Given the description of an element on the screen output the (x, y) to click on. 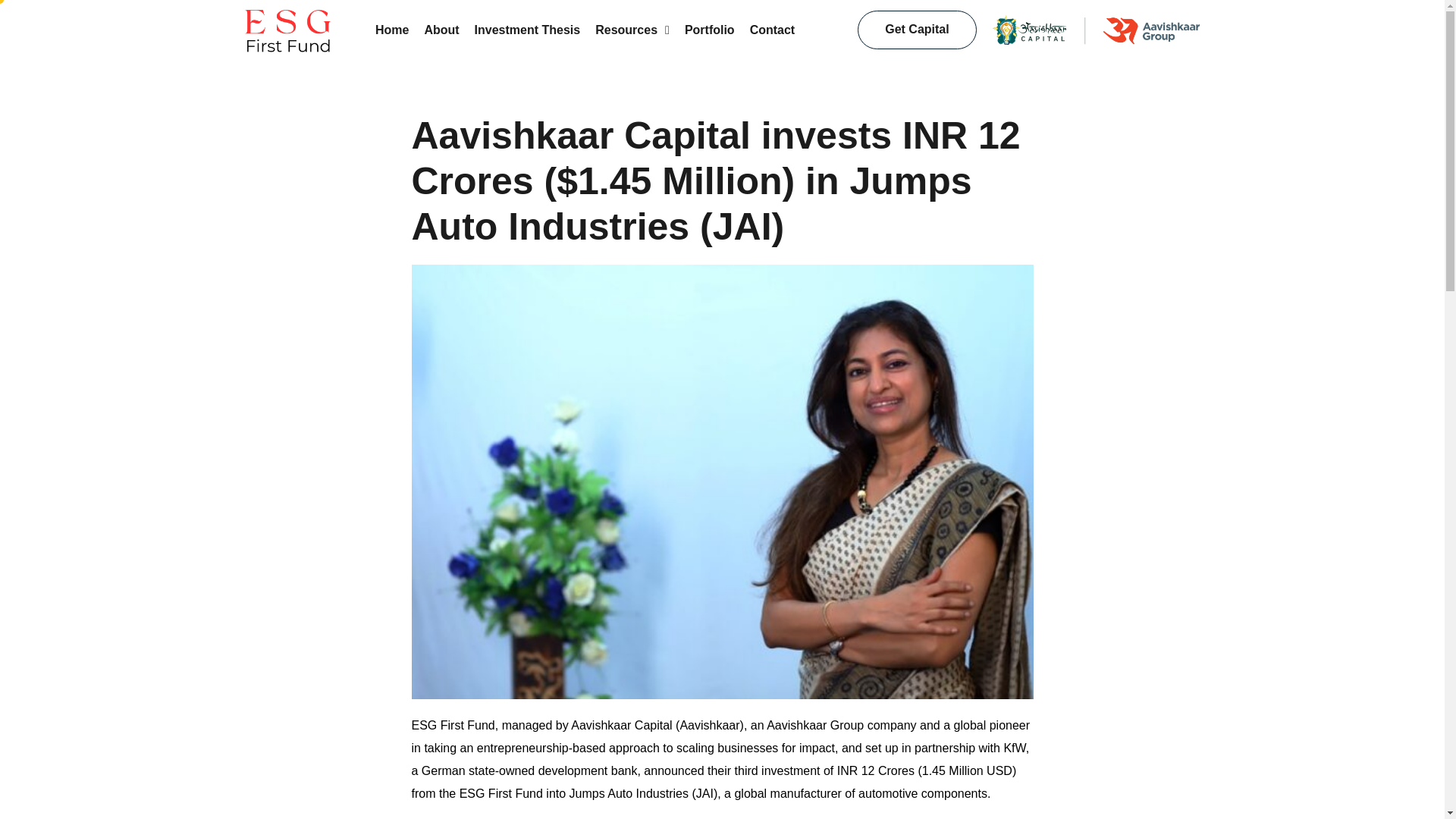
Resources (632, 30)
Contact (771, 30)
Investment Thesis (527, 30)
Get Capital (916, 29)
Portfolio (709, 30)
About (440, 30)
Home (589, 30)
